Given the description of an element on the screen output the (x, y) to click on. 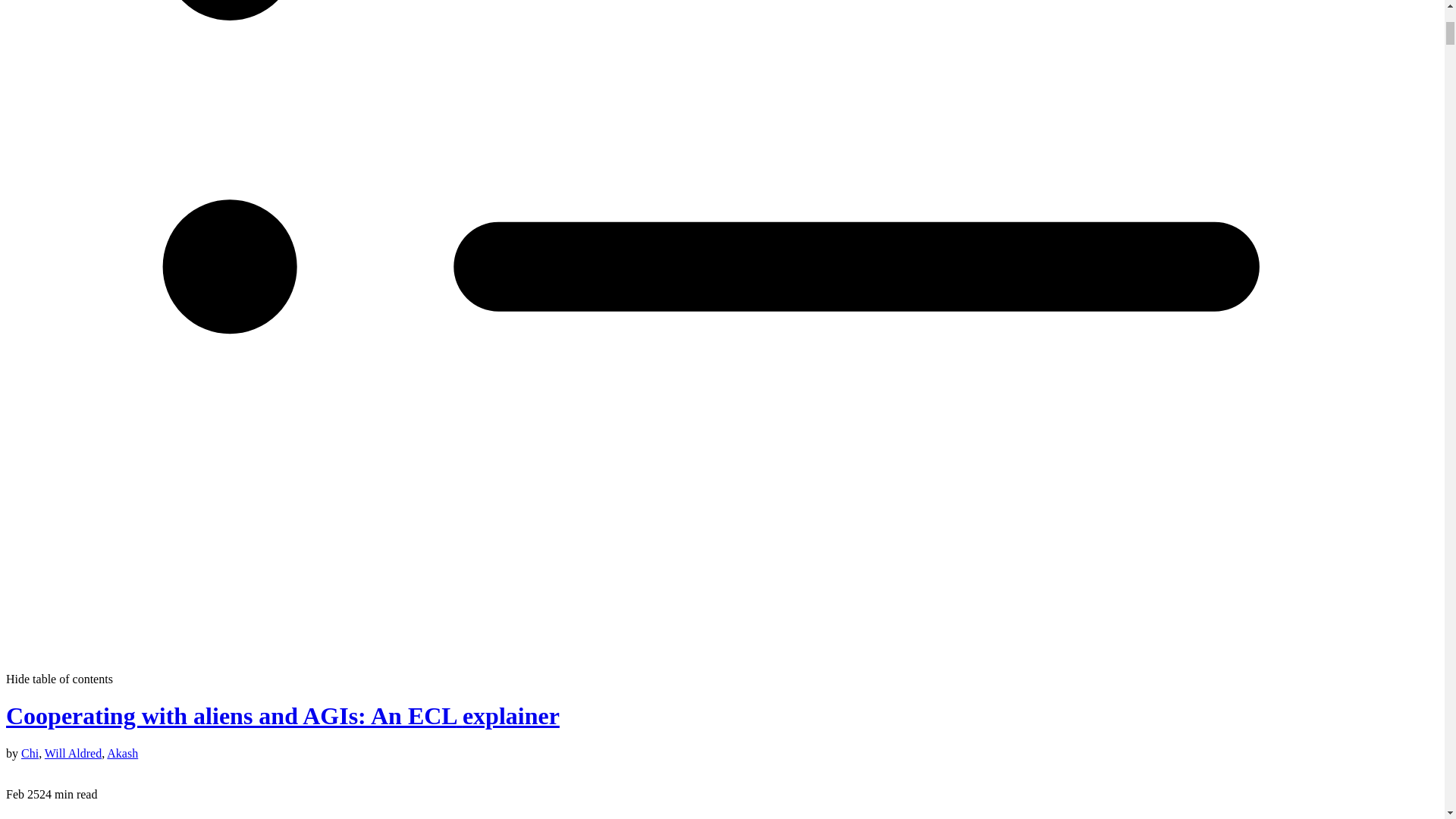
Akash (122, 753)
Cooperating with aliens and AGIs: An ECL explainer (282, 715)
Will Aldred (73, 753)
Chi (30, 753)
